Given the description of an element on the screen output the (x, y) to click on. 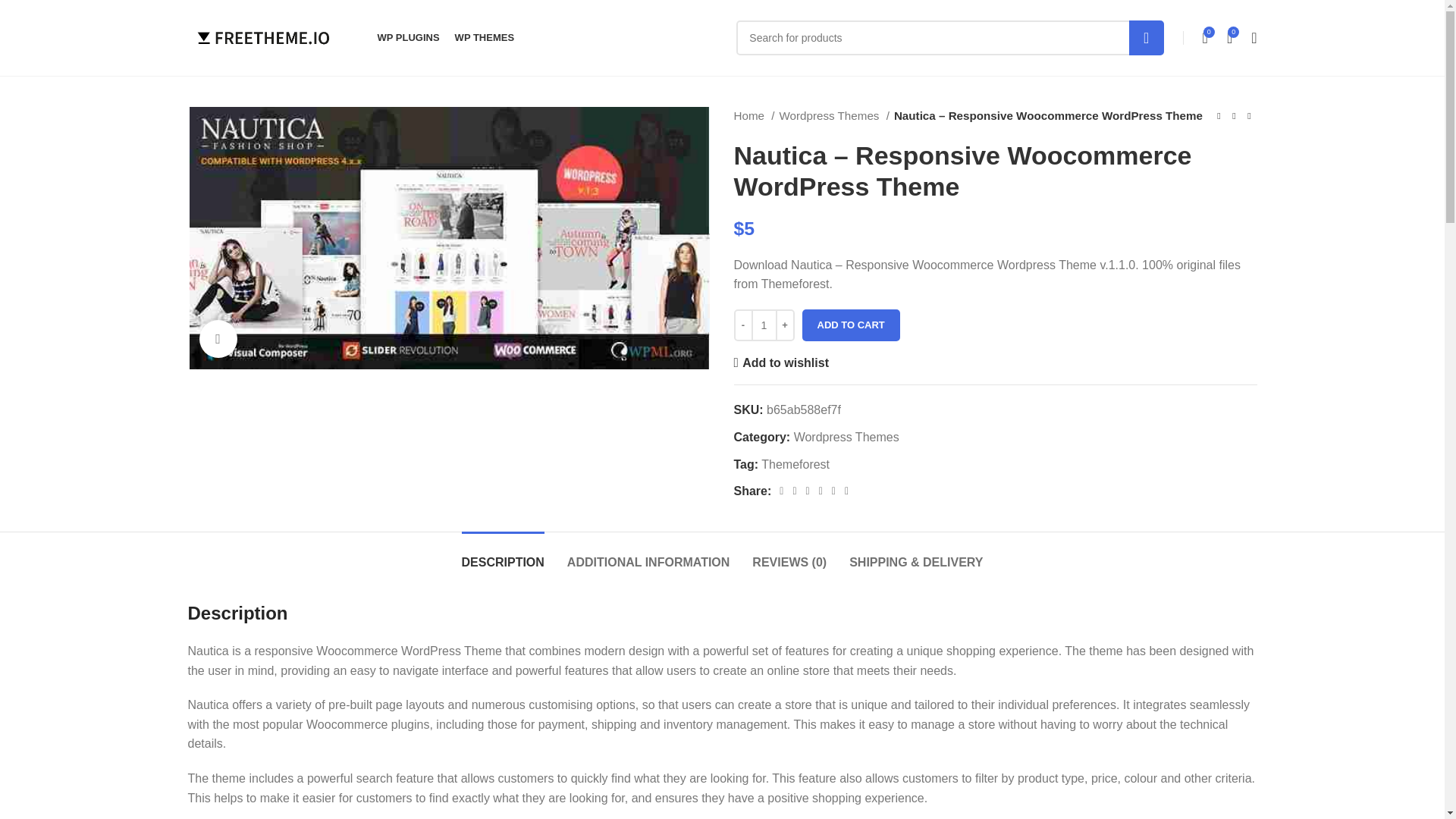
WP PLUGINS (408, 37)
Home (753, 116)
Log in (1130, 286)
Add to wishlist (780, 363)
Wordpress Themes (833, 116)
Themeforest (795, 463)
WP THEMES (484, 37)
DESCRIPTION (502, 554)
Search for products (949, 37)
